Given the description of an element on the screen output the (x, y) to click on. 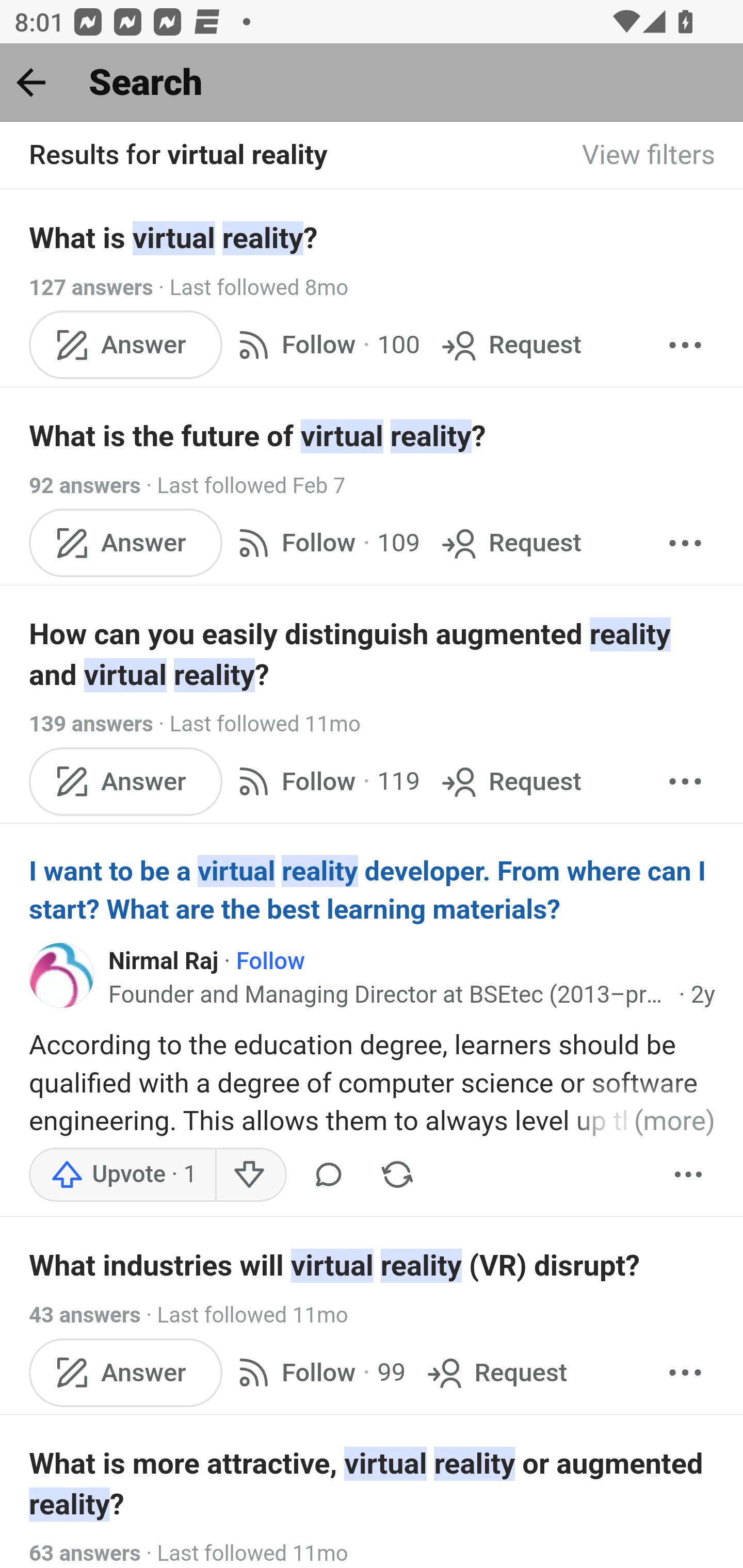
Back Search (371, 82)
Back (30, 82)
View filters (648, 155)
What is virtual reality? (372, 237)
127 answers 127  answers (90, 287)
Answer (125, 343)
Follow · 100 (324, 343)
Request (509, 343)
More (684, 343)
What is the future of virtual reality? (372, 436)
92 answers 92  answers (84, 484)
Answer (125, 543)
Follow · 109 (324, 543)
Request (509, 543)
More (684, 543)
139 answers 139  answers (90, 723)
Answer (125, 781)
Follow · 119 (324, 781)
Request (509, 781)
More (684, 781)
Profile photo for Nirmal Raj (61, 974)
Nirmal Raj (164, 961)
Follow (269, 961)
2y 2 y (702, 995)
Upvote (122, 1174)
Downvote (249, 1174)
Comment (328, 1174)
Share (397, 1174)
More (688, 1174)
What industries will virtual reality (VR) disrupt? (372, 1265)
43 answers 43  answers (84, 1316)
Answer (125, 1371)
Follow · 99 (317, 1371)
Request (495, 1371)
More (684, 1371)
